Given the description of an element on the screen output the (x, y) to click on. 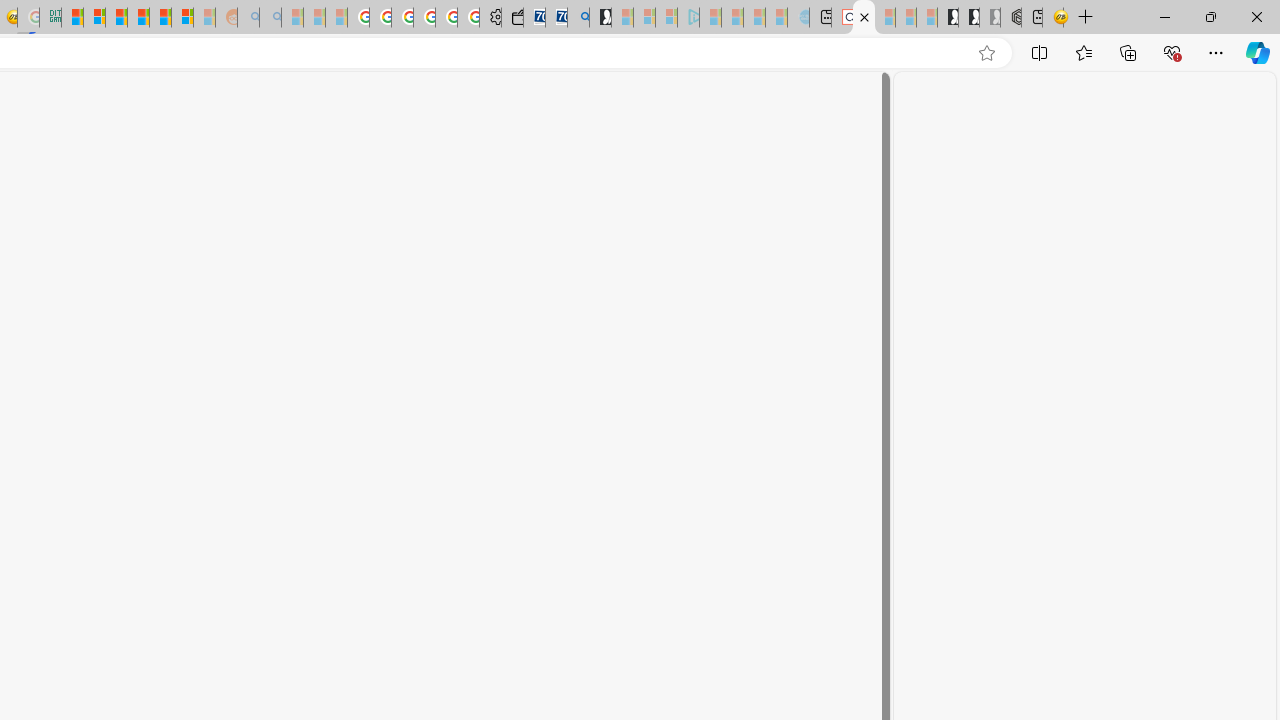
Kinda Frugal - MSN (160, 17)
